Given the description of an element on the screen output the (x, y) to click on. 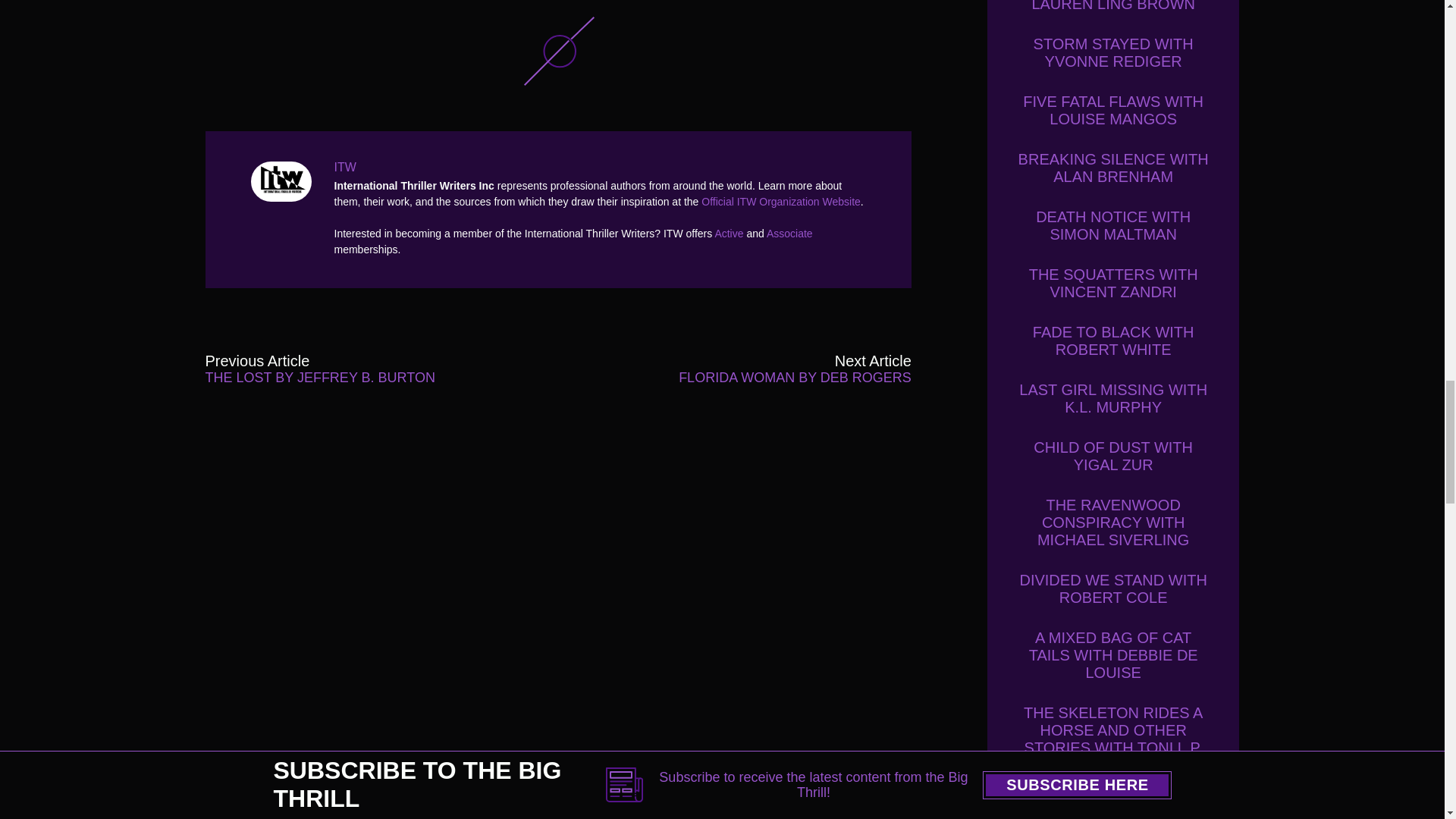
ITW (284, 180)
Florida Woman by Deb Rogers (769, 368)
The Lost by Jeffrey B. Burton (346, 368)
